Given the description of an element on the screen output the (x, y) to click on. 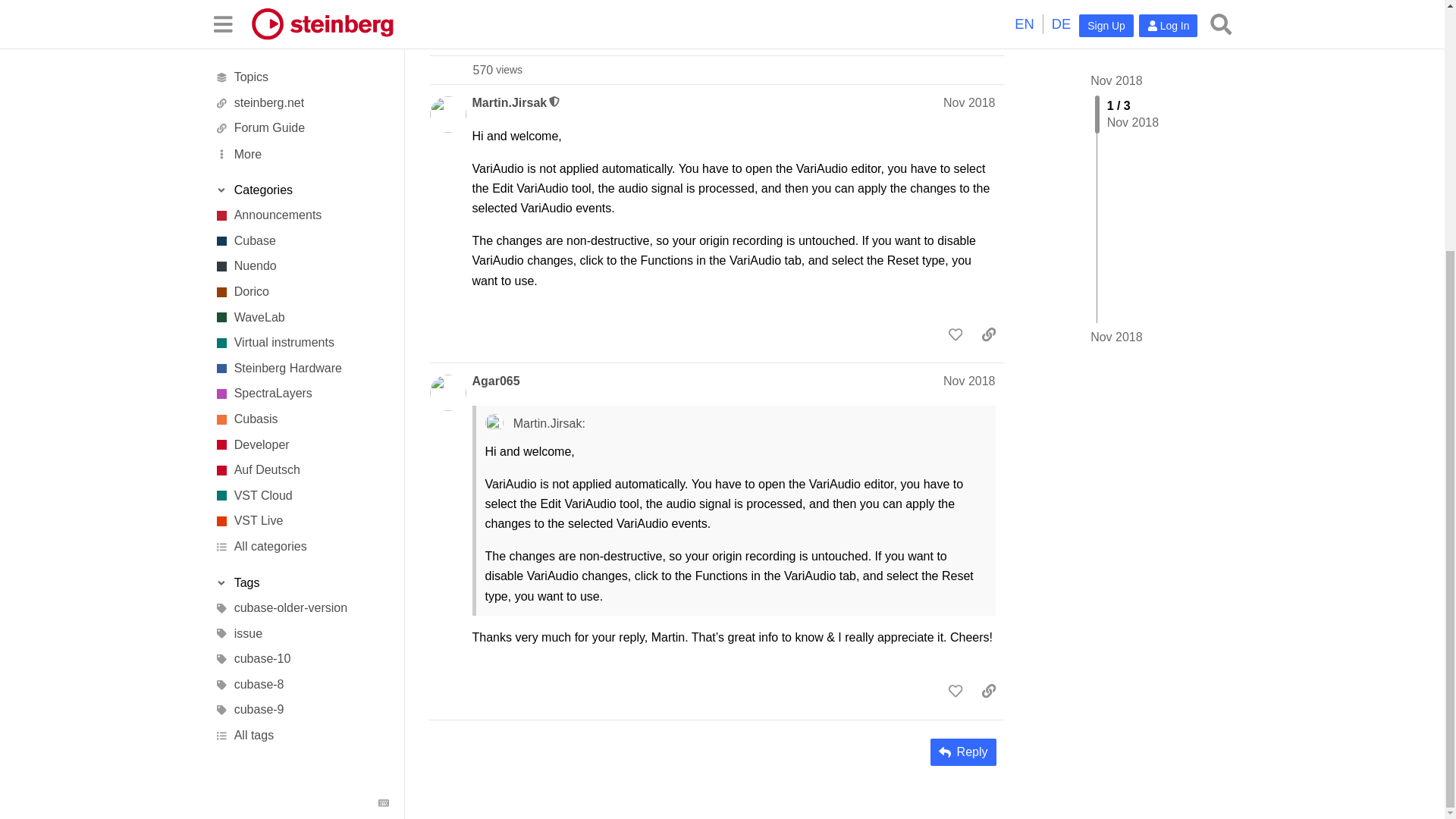
issue (301, 280)
Toggle section (301, 229)
cubase-9 (301, 356)
VST Cloud (301, 142)
Tags (301, 229)
cubase-8 (301, 330)
cubase-10 (301, 306)
All tags (301, 381)
SpectraLayers (301, 40)
Auf Deutsch (301, 117)
